Given the description of an element on the screen output the (x, y) to click on. 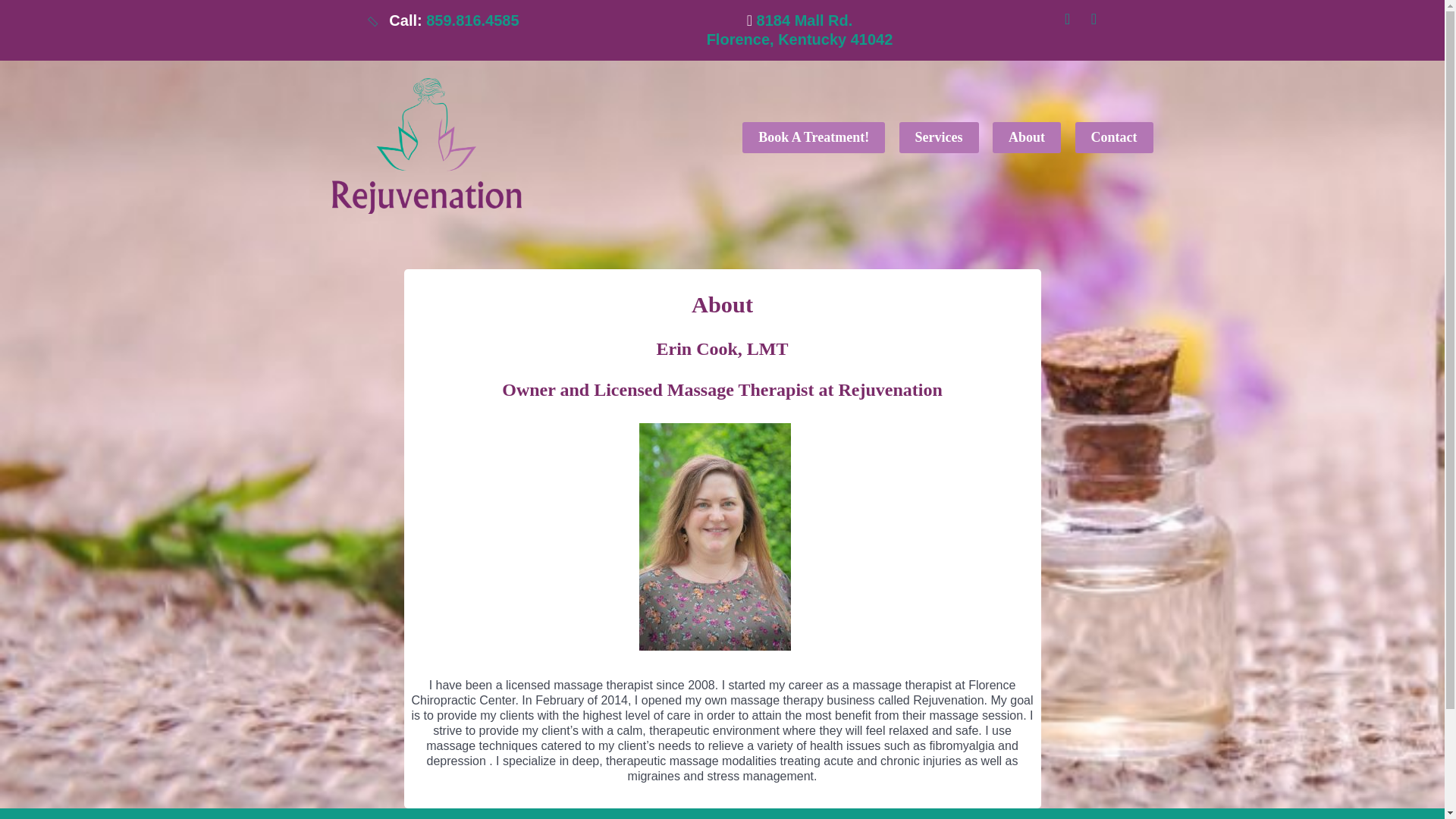
Services (799, 29)
Contact (938, 137)
Book A Treatment! (1112, 137)
About (812, 137)
859.816.4585 (1026, 137)
